Given the description of an element on the screen output the (x, y) to click on. 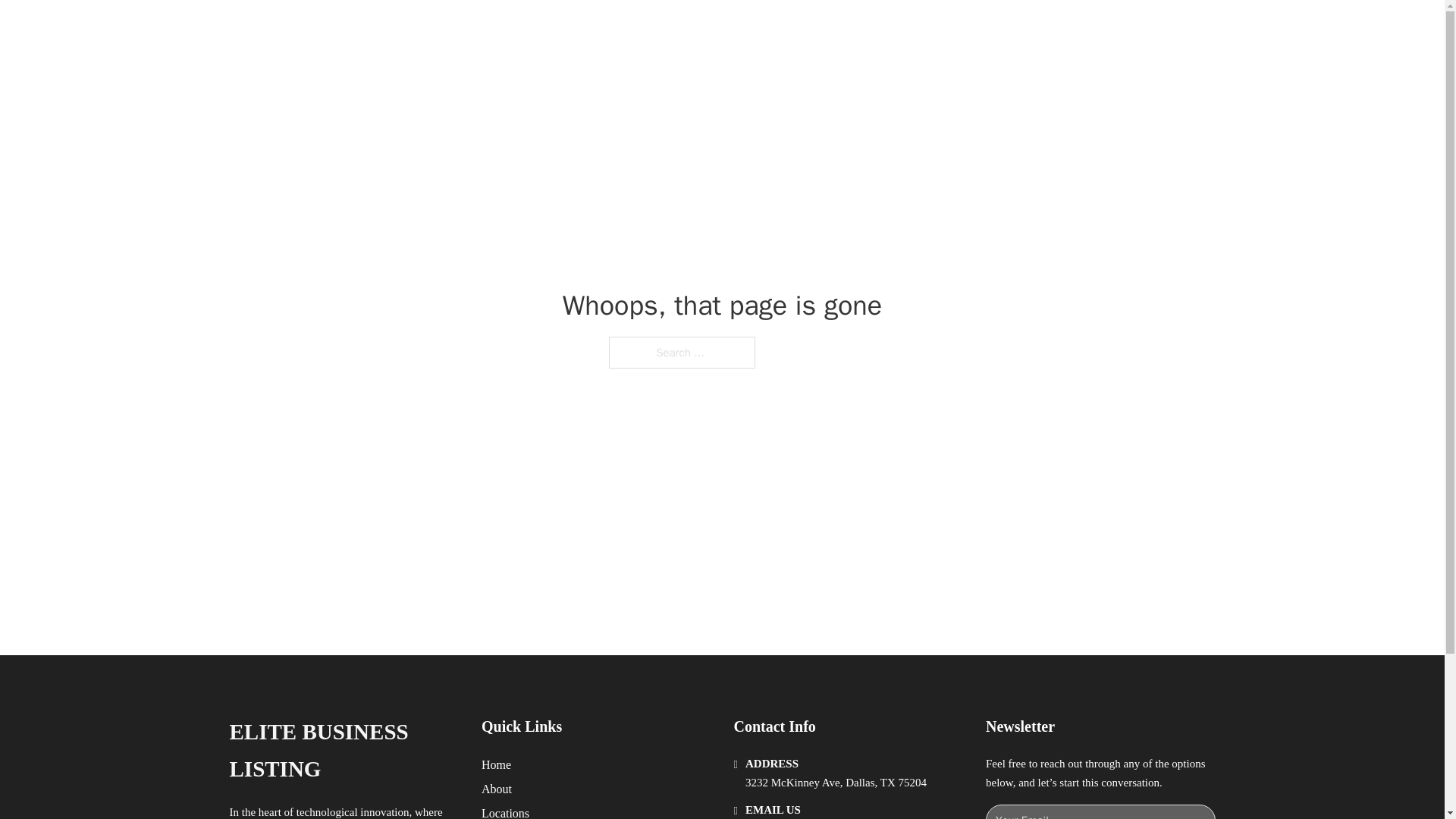
ELITE BUSINESS LISTING (433, 28)
About (496, 788)
ELITE BUSINESS LISTING (343, 750)
HOME (919, 29)
LOCATIONS (990, 29)
Home (496, 764)
Locations (505, 811)
